Given the description of an element on the screen output the (x, y) to click on. 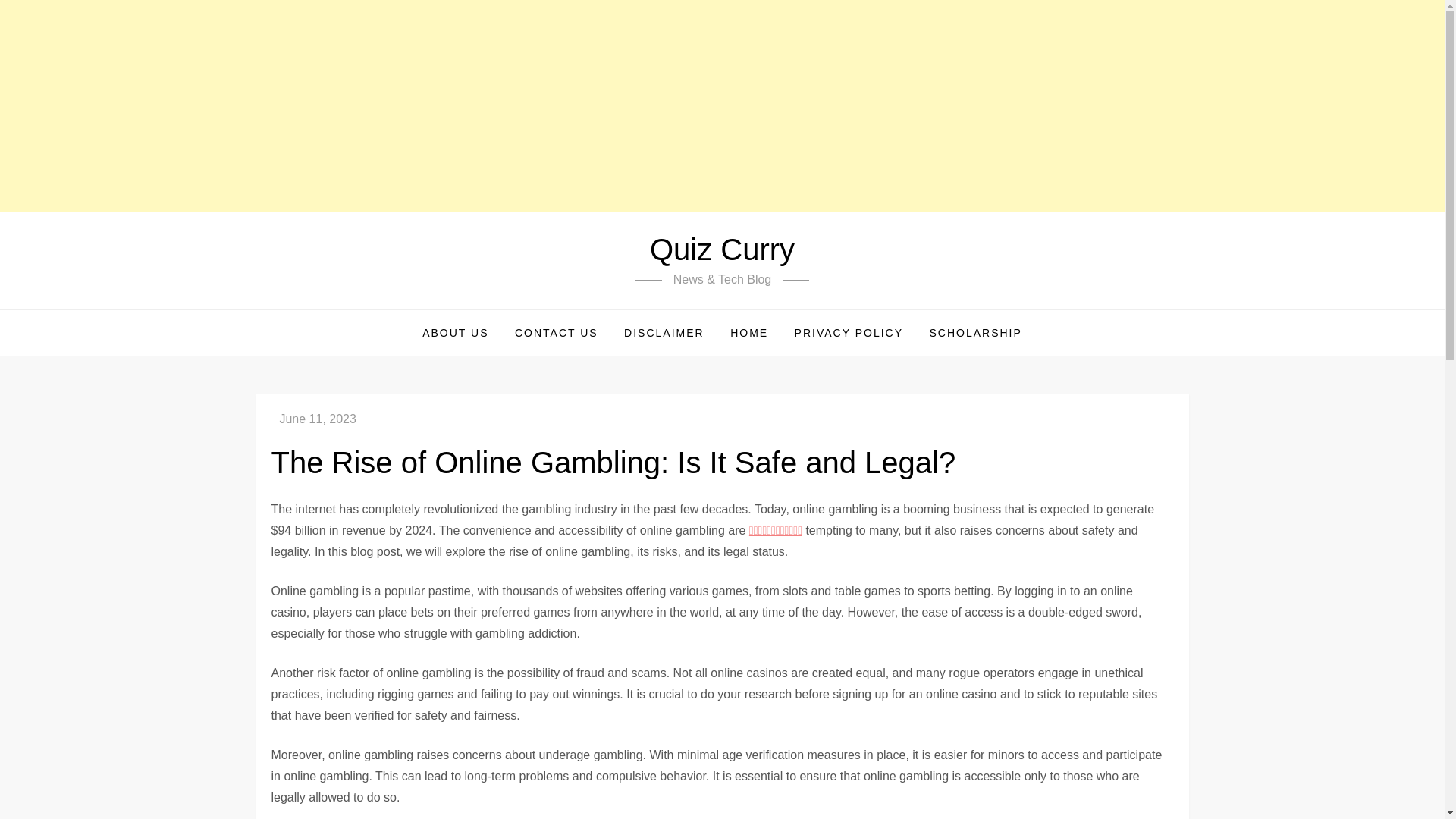
PRIVACY POLICY (848, 332)
Quiz Curry (721, 249)
HOME (748, 332)
DISCLAIMER (664, 332)
CONTACT US (556, 332)
ABOUT US (454, 332)
SCHOLARSHIP (974, 332)
June 11, 2023 (317, 418)
